Given the description of an element on the screen output the (x, y) to click on. 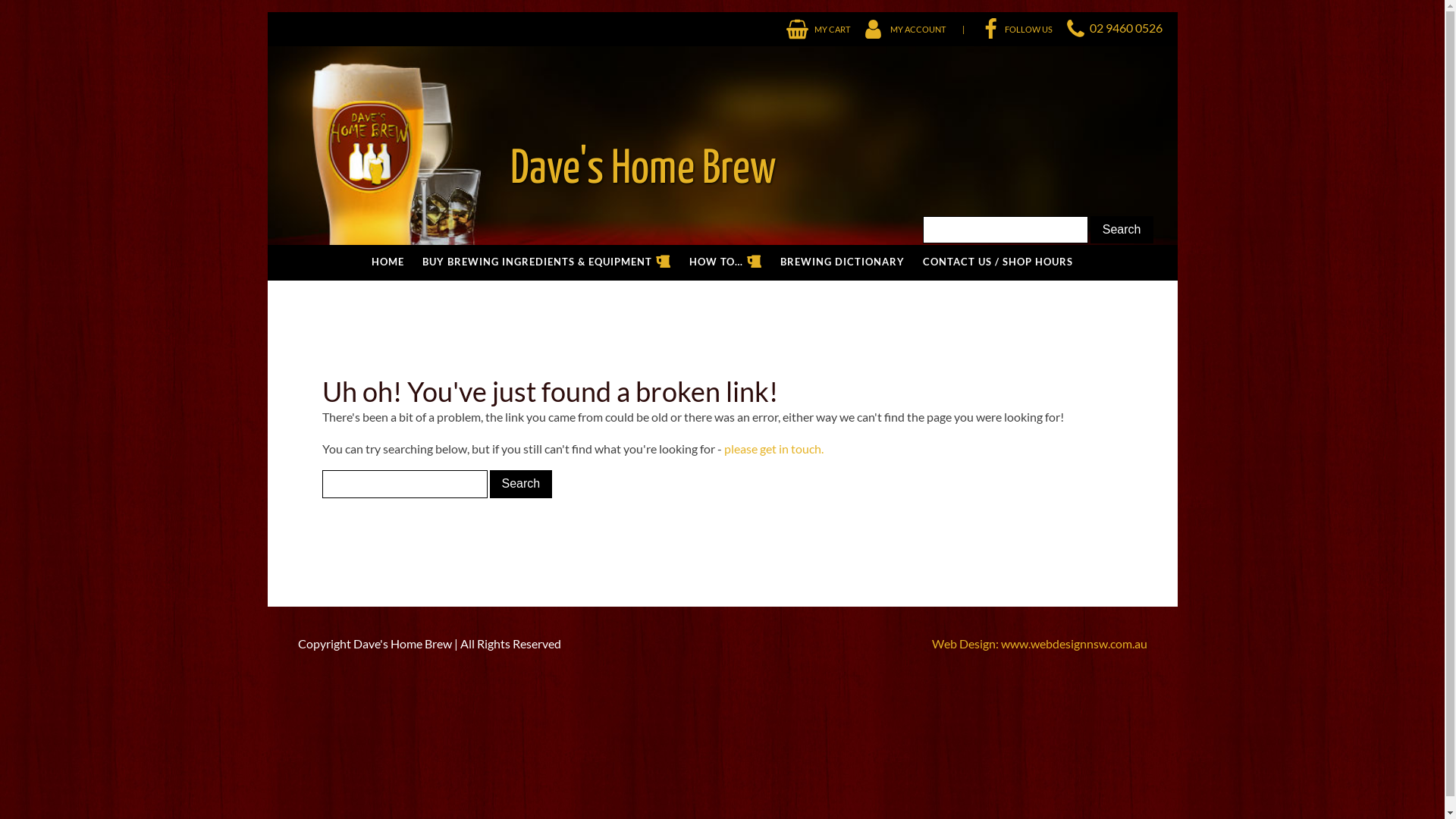
please get in touch. Element type: text (772, 448)
Dave's Home Brew Element type: text (520, 145)
MY CART Element type: text (817, 29)
BUY BREWING INGREDIENTS & EQUIPMENT Element type: text (546, 262)
BREWING DICTIONARY Element type: text (842, 262)
Search Element type: text (520, 483)
MY ACCOUNT           |   Element type: text (907, 29)
Search Element type: text (1121, 229)
FOLLOW US Element type: text (1009, 29)
02 9460 0526 Element type: text (1124, 27)
CONTACT US / SHOP HOURS Element type: text (997, 262)
Web Design: www.webdesignnsw.com.au Element type: text (1038, 643)
HOME Element type: text (387, 262)
